Given the description of an element on the screen output the (x, y) to click on. 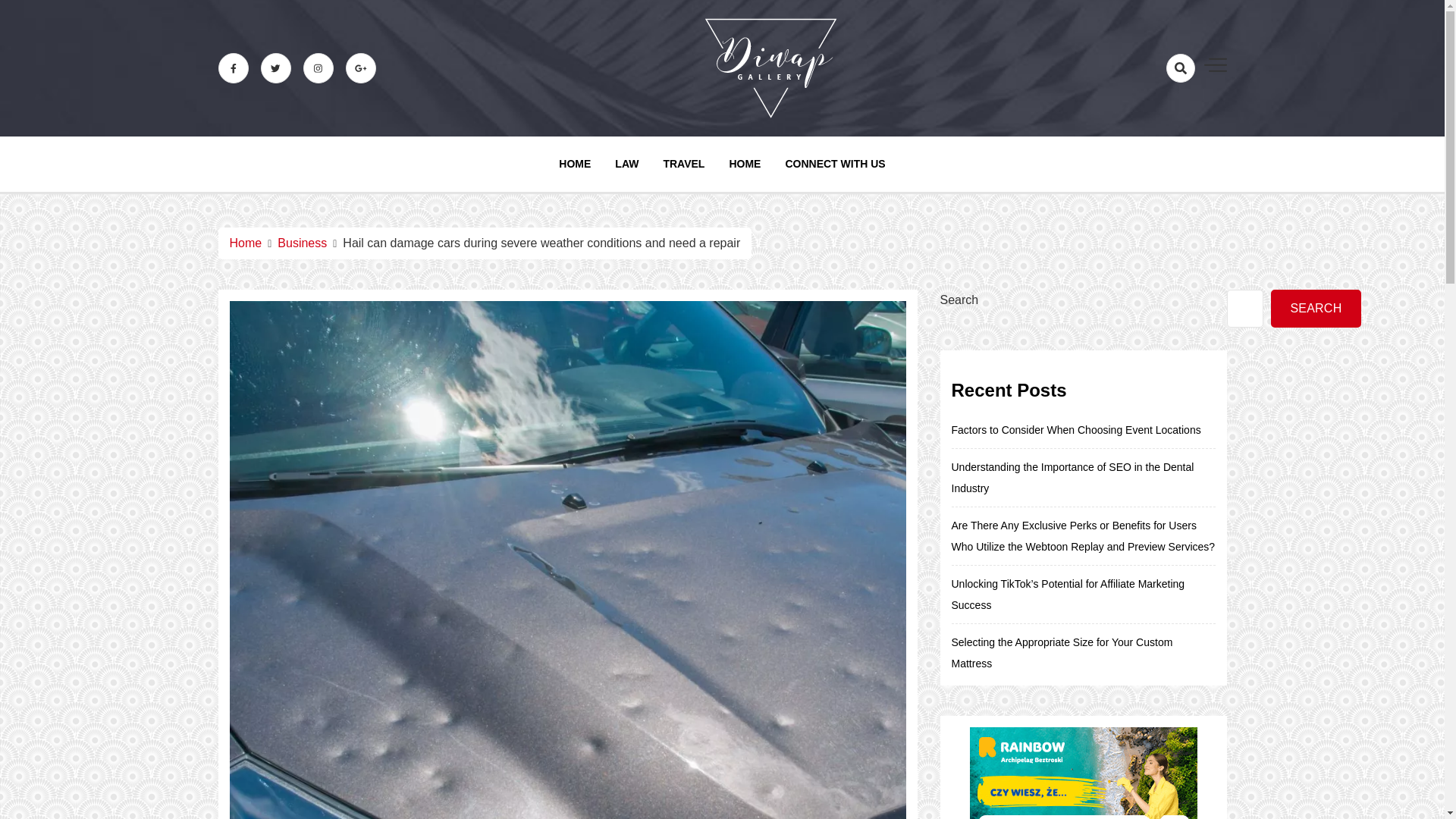
LAW (626, 163)
Diwap Gallery (837, 155)
TRAVEL (683, 163)
Search (1150, 121)
HOME (744, 163)
Home (245, 242)
Business (302, 242)
HOME (575, 163)
SEARCH (1316, 308)
CONNECT WITH US (834, 163)
